Given the description of an element on the screen output the (x, y) to click on. 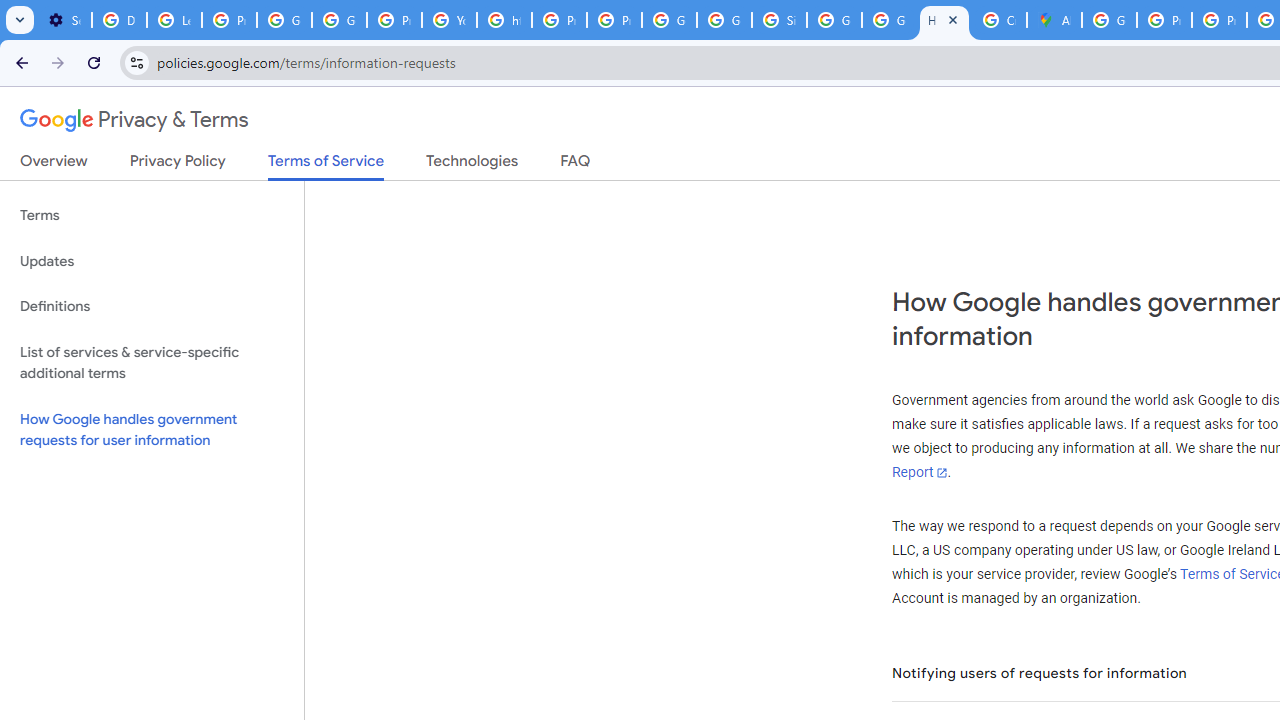
YouTube (449, 20)
